Given the description of an element on the screen output the (x, y) to click on. 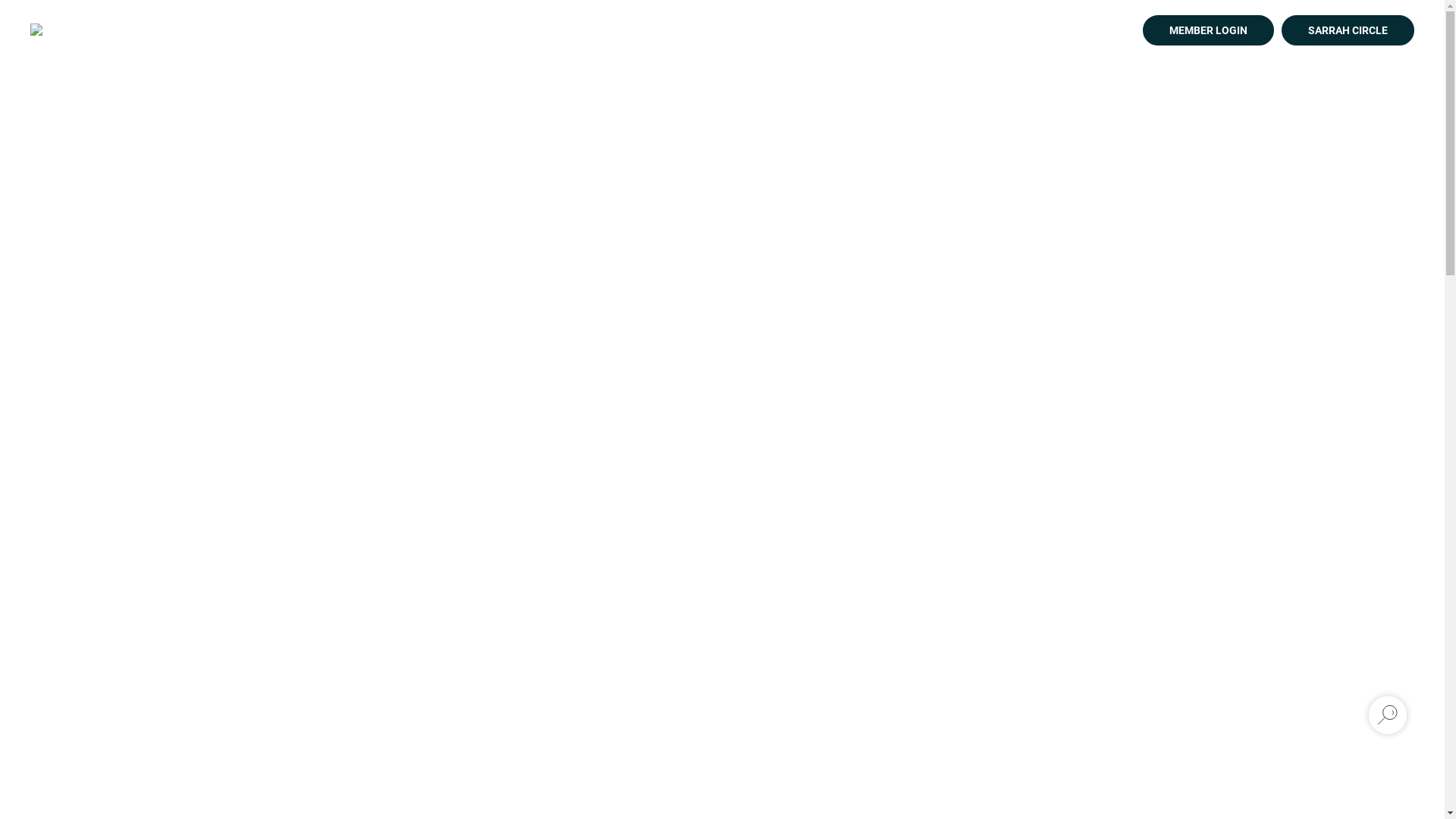
OUR WORK Element type: text (891, 29)
SARRAH CIRCLE Element type: text (1347, 30)
ABOUT US Element type: text (1081, 29)
JOBS Element type: text (1012, 29)
CPD Element type: text (960, 29)
MEMBERSHIP Element type: text (795, 29)
MEMBER LOGIN Element type: text (1208, 30)
